Given the description of an element on the screen output the (x, y) to click on. 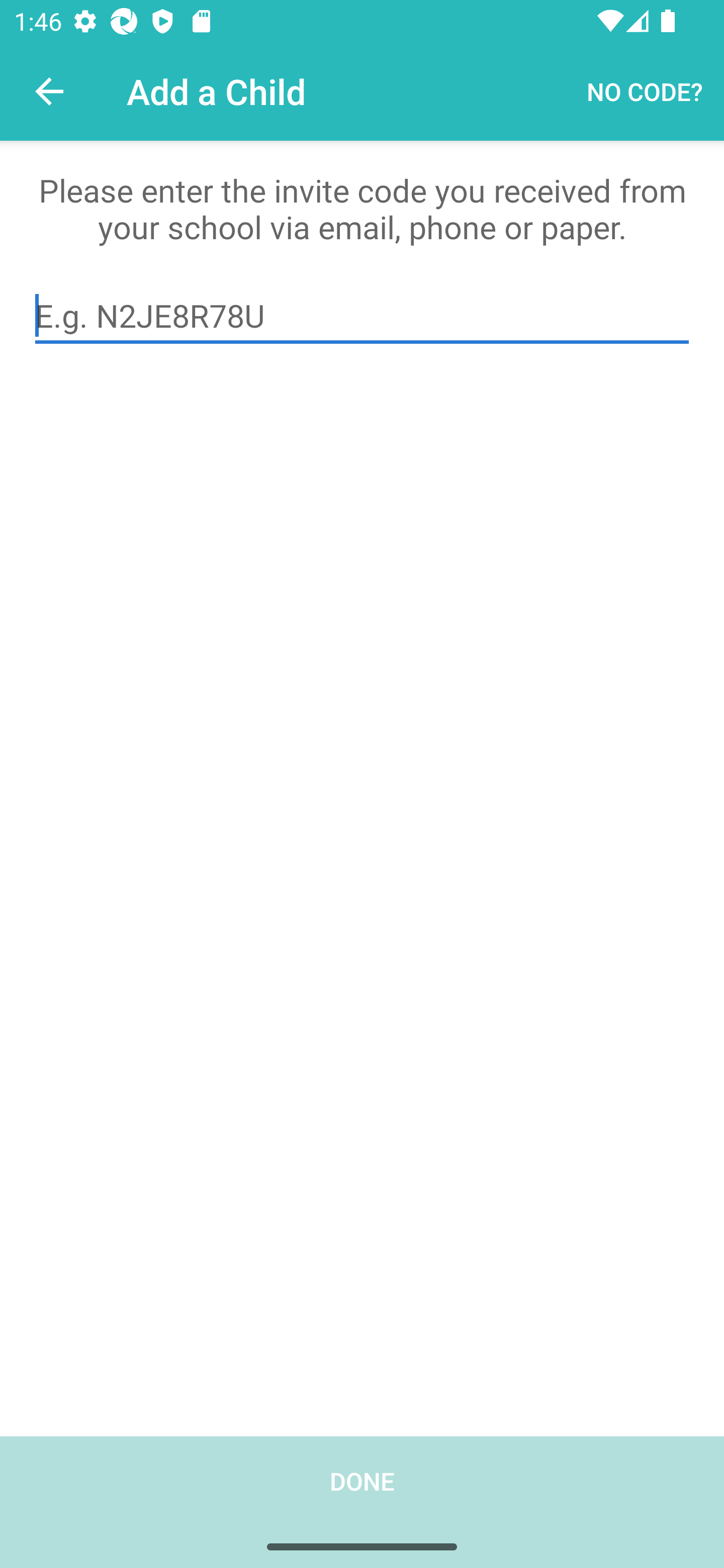
Navigate up (49, 91)
NO CODE? (644, 90)
E.g. N2JE8R78U (361, 315)
DONE (362, 1502)
